Given the description of an element on the screen output the (x, y) to click on. 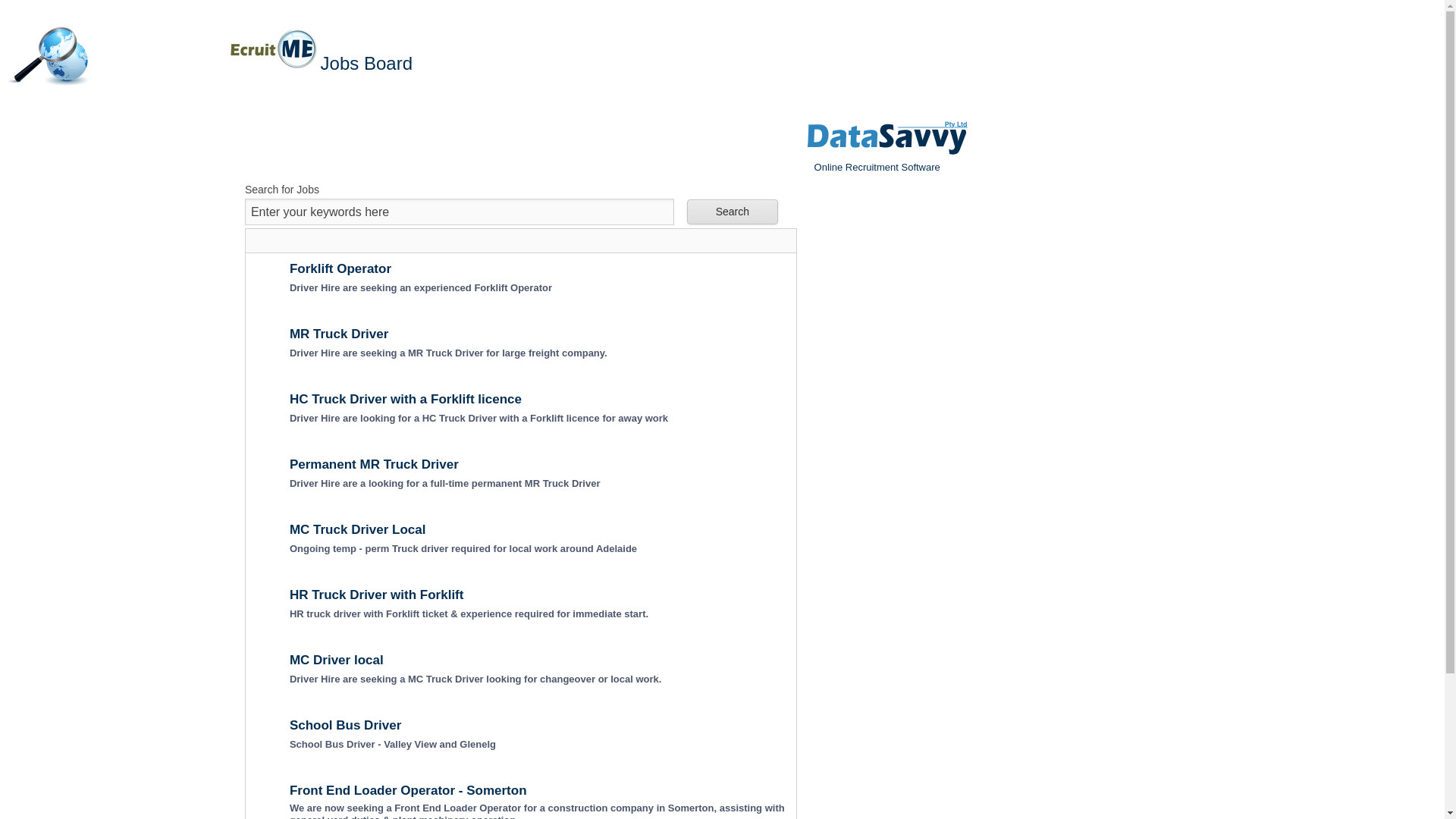
Advertisement Element type: hover (520, 143)
Advertisement Element type: hover (919, 455)
Advertisement Element type: hover (127, 455)
